Given the description of an element on the screen output the (x, y) to click on. 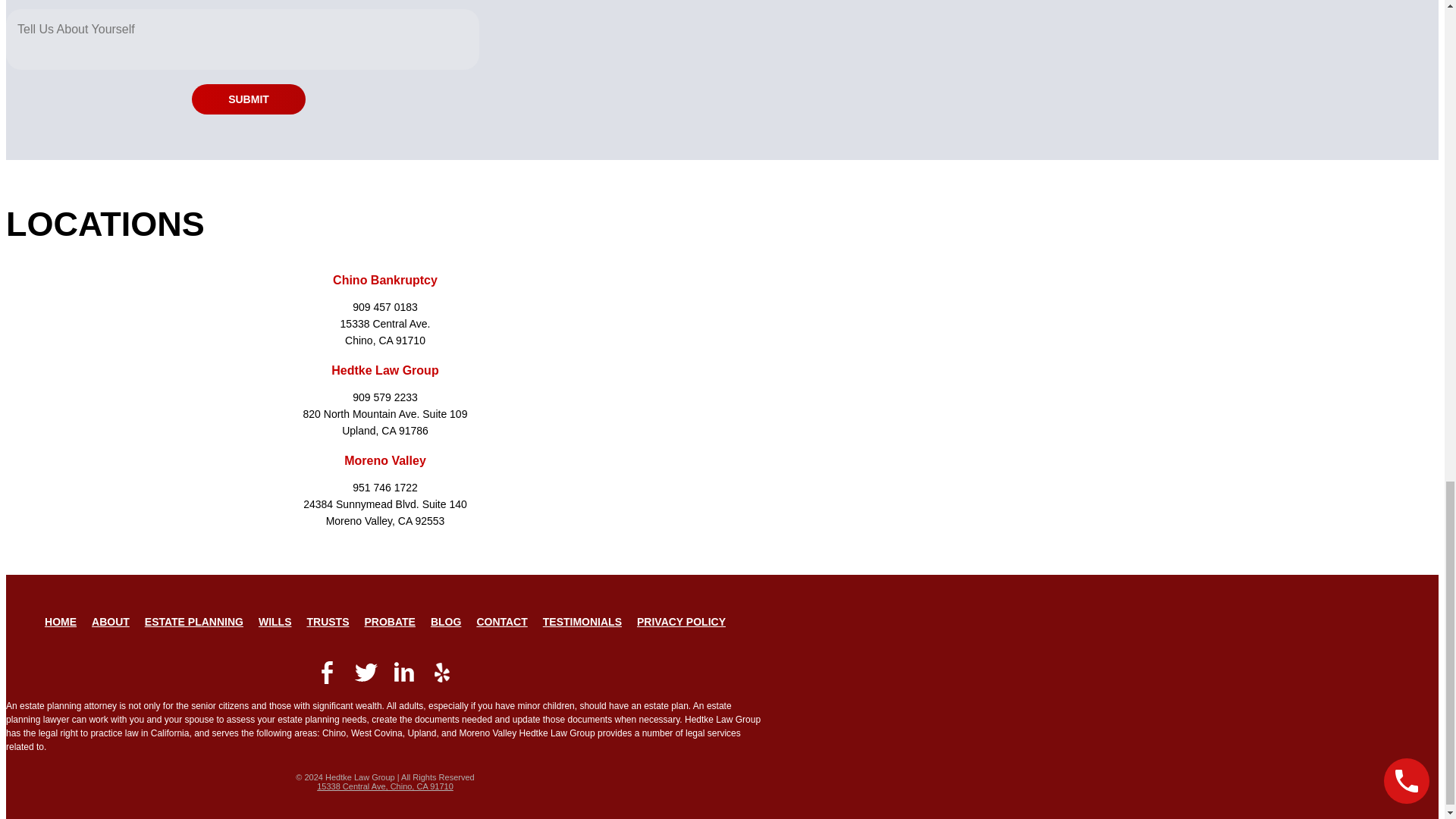
Submit (248, 99)
